Given the description of an element on the screen output the (x, y) to click on. 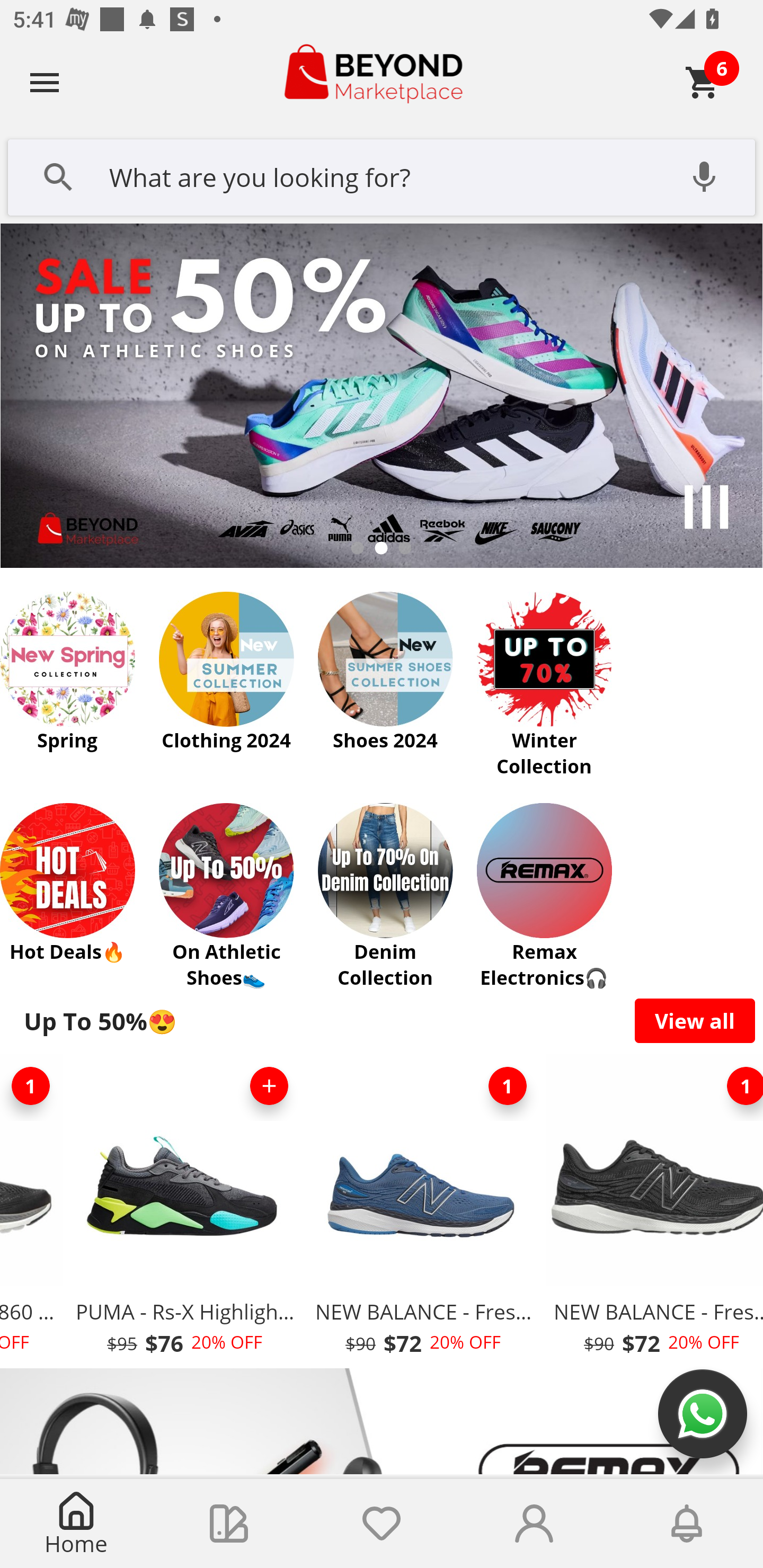
Navigate up (44, 82)
What are you looking for? (381, 175)
View all (694, 1020)
1 (32, 1085)
1 (507, 1085)
1 (737, 1085)
Collections (228, 1523)
Wishlist (381, 1523)
Account (533, 1523)
Notifications (686, 1523)
